Given the description of an element on the screen output the (x, y) to click on. 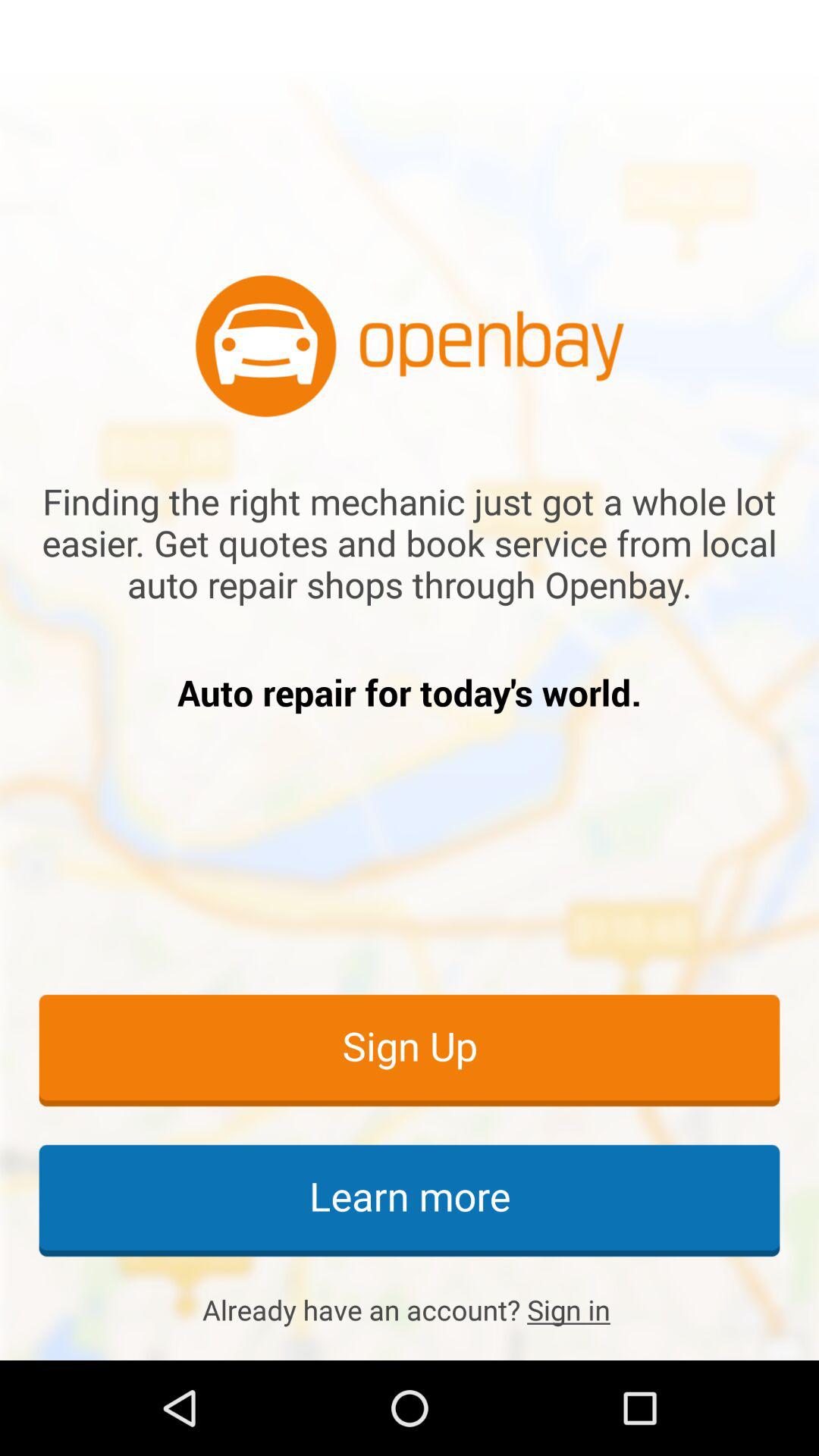
open icon above the already have an (409, 1199)
